Given the description of an element on the screen output the (x, y) to click on. 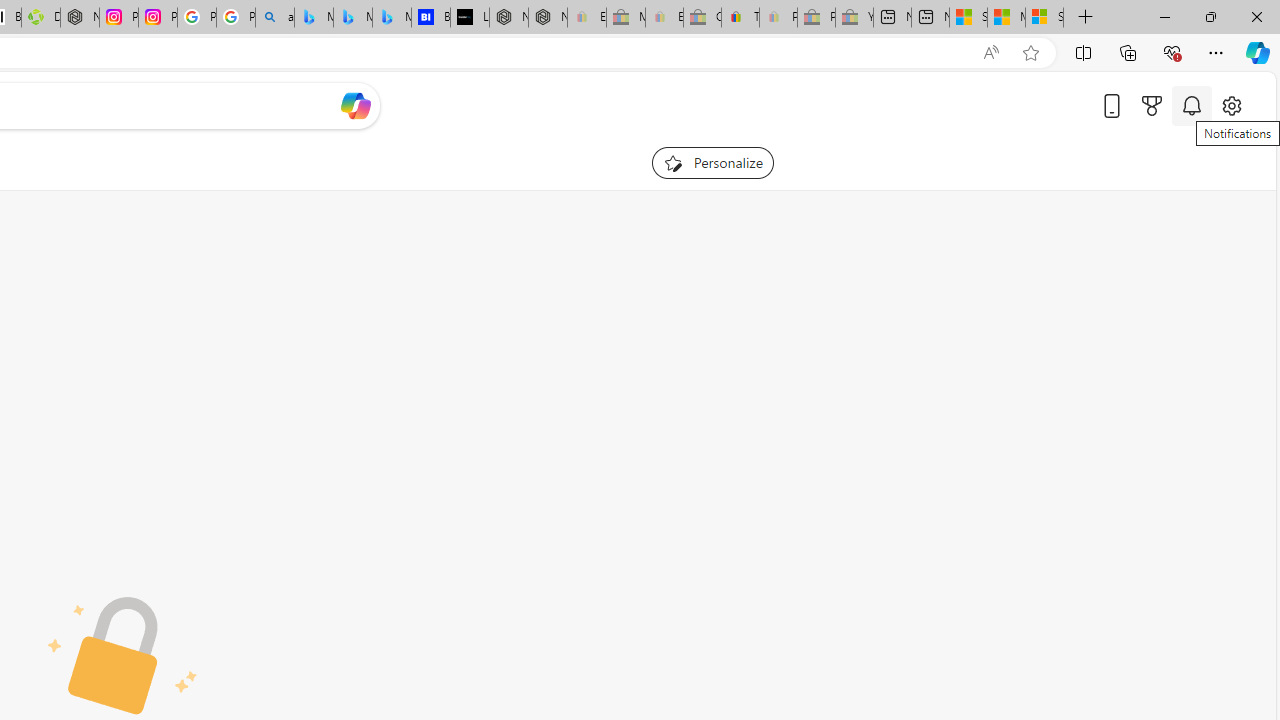
Microsoft Bing Travel - Shangri-La Hotel Bangkok (391, 17)
Yard, Garden & Outdoor Living - Sleeping (853, 17)
Threats and offensive language policy | eBay (740, 17)
